Given the description of an element on the screen output the (x, y) to click on. 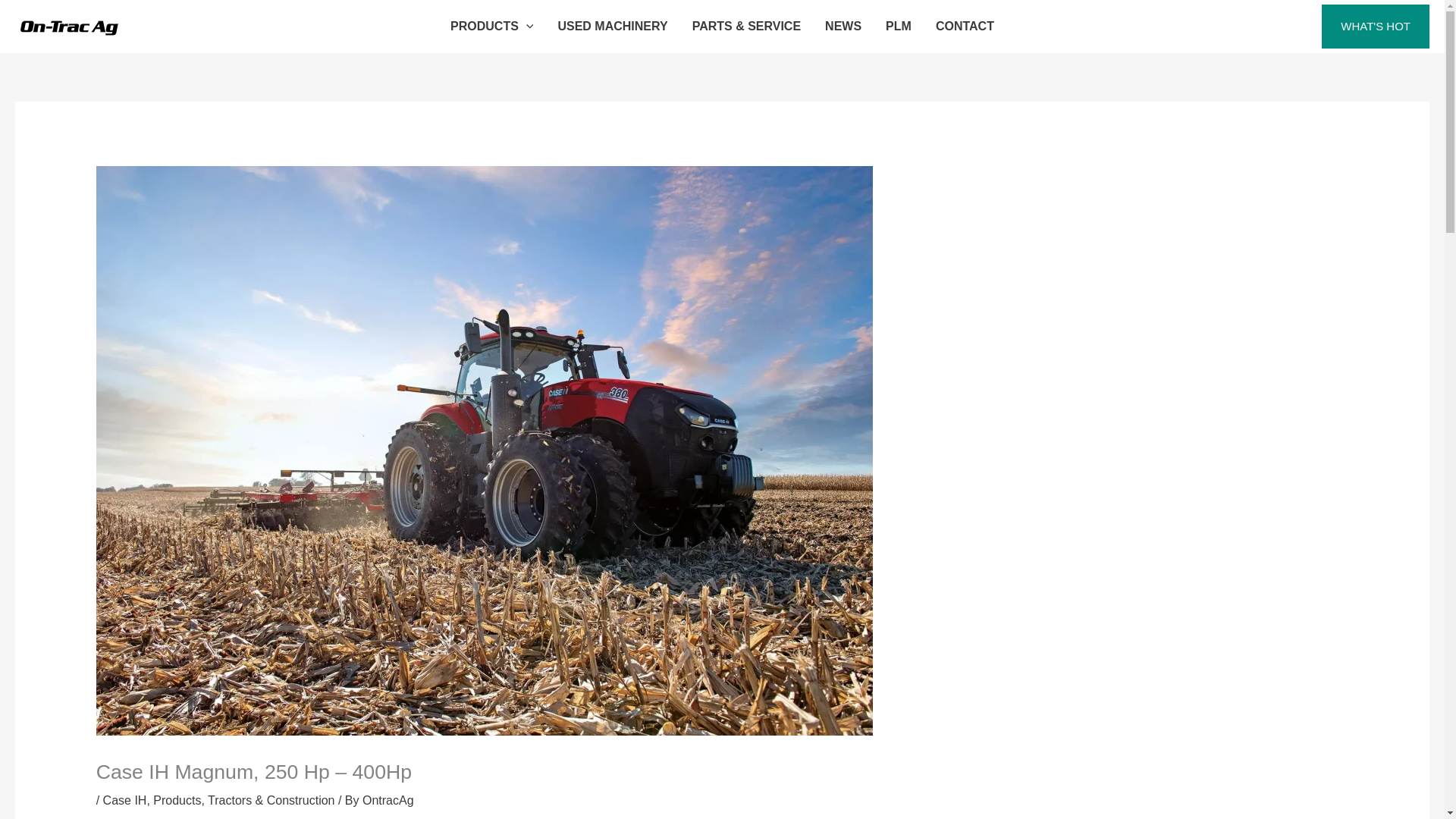
View all posts by OntracAg (387, 799)
PLM (898, 26)
PRODUCTS (491, 26)
WHAT'S HOT (1375, 26)
USED MACHINERY (611, 26)
CONTACT (964, 26)
NEWS (842, 26)
